Given the description of an element on the screen output the (x, y) to click on. 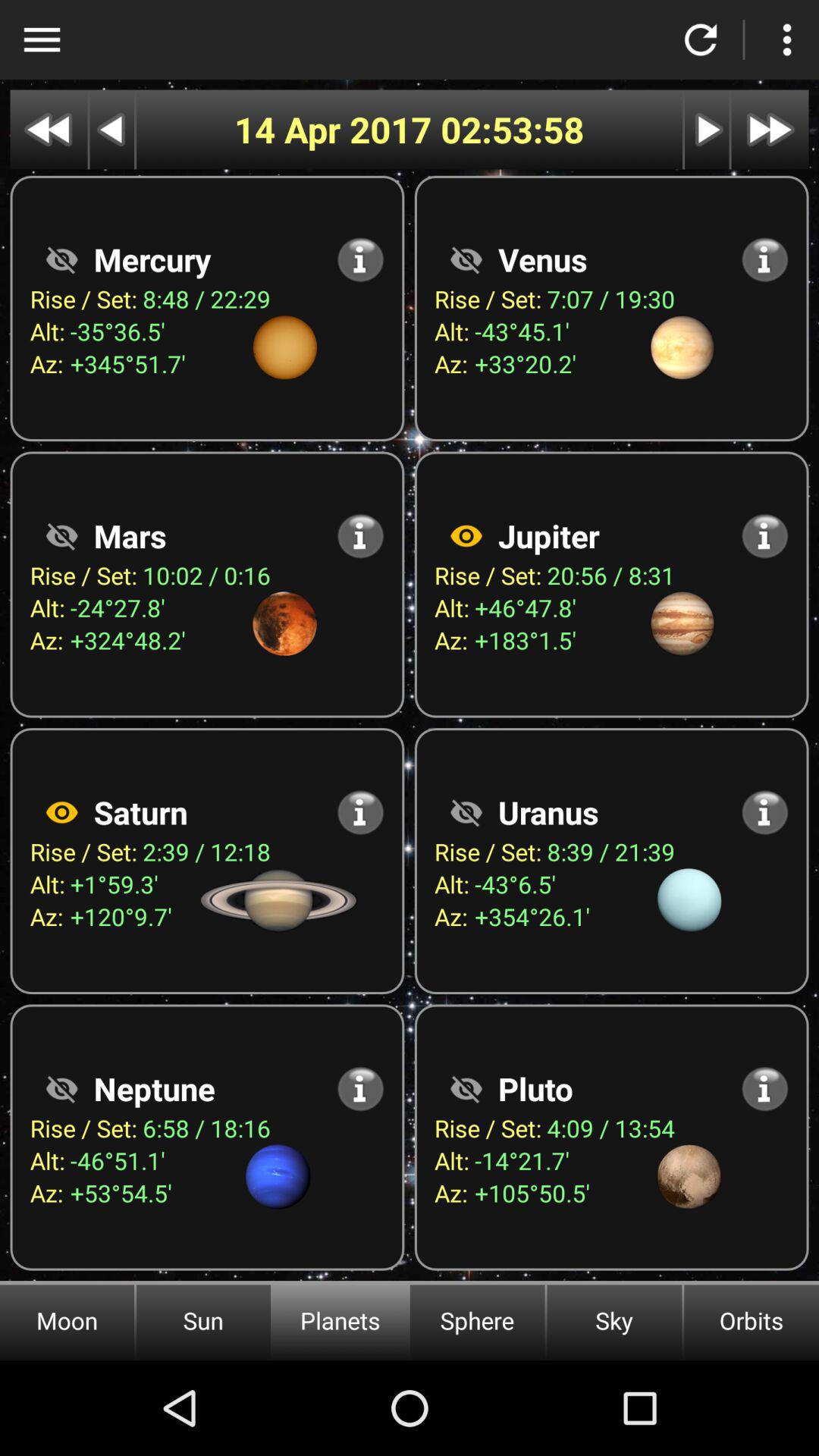
toggle visible option (466, 1088)
